Given the description of an element on the screen output the (x, y) to click on. 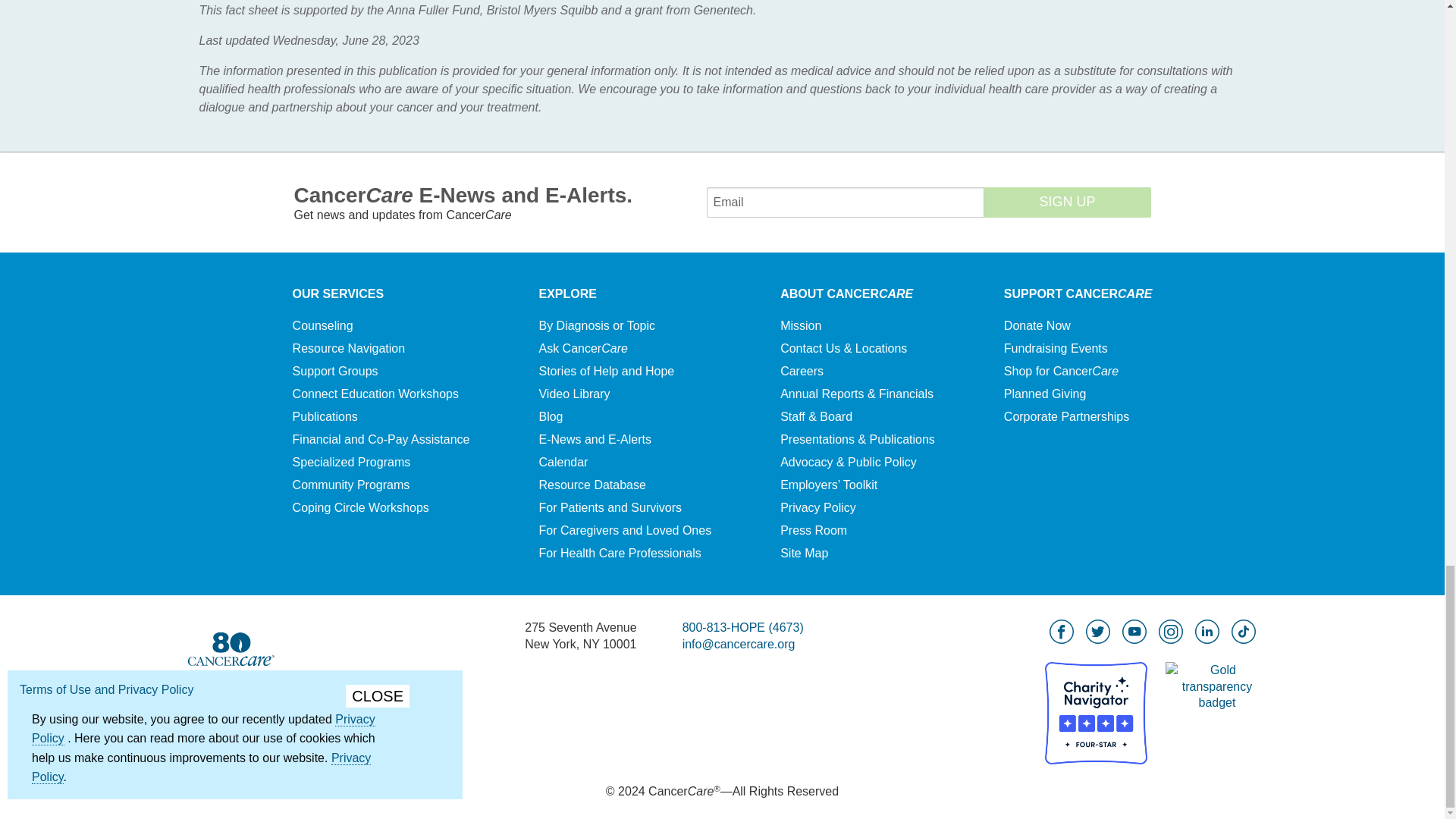
Tap or click here to open our Tiktok page in a new window (1243, 631)
Tap or click here to open our Facebook page in a new window (1061, 631)
Tap or click here to open our Twitter page in a new window (1097, 631)
Tap or click here to open our LinkedIn page in a new window (1207, 631)
SIGN UP (1067, 202)
Tap or click here to open our YouTube page in a new window (1134, 631)
Tap or click here to open our Instagram page in a new window (1170, 631)
